Given the description of an element on the screen output the (x, y) to click on. 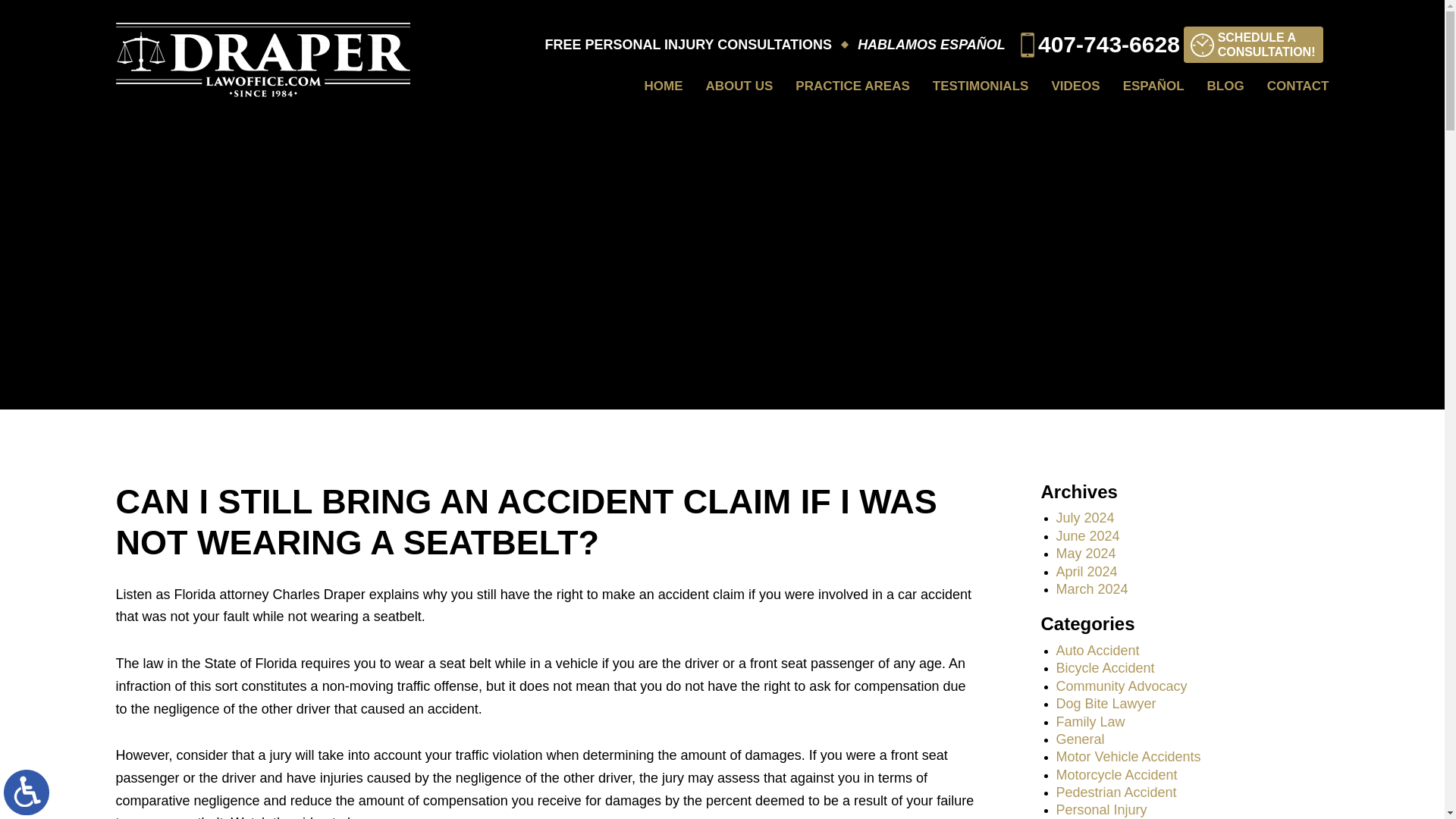
407-743-6628 (1099, 44)
BLOG (1225, 85)
PRACTICE AREAS (852, 85)
ABOUT US (739, 85)
TESTIMONIALS (981, 85)
HOME (1253, 44)
CONTACT (663, 85)
July 2024 (1297, 85)
Switch to ADA Accessible Theme (1084, 517)
June 2024 (26, 791)
VIDEOS (1087, 535)
